Given the description of an element on the screen output the (x, y) to click on. 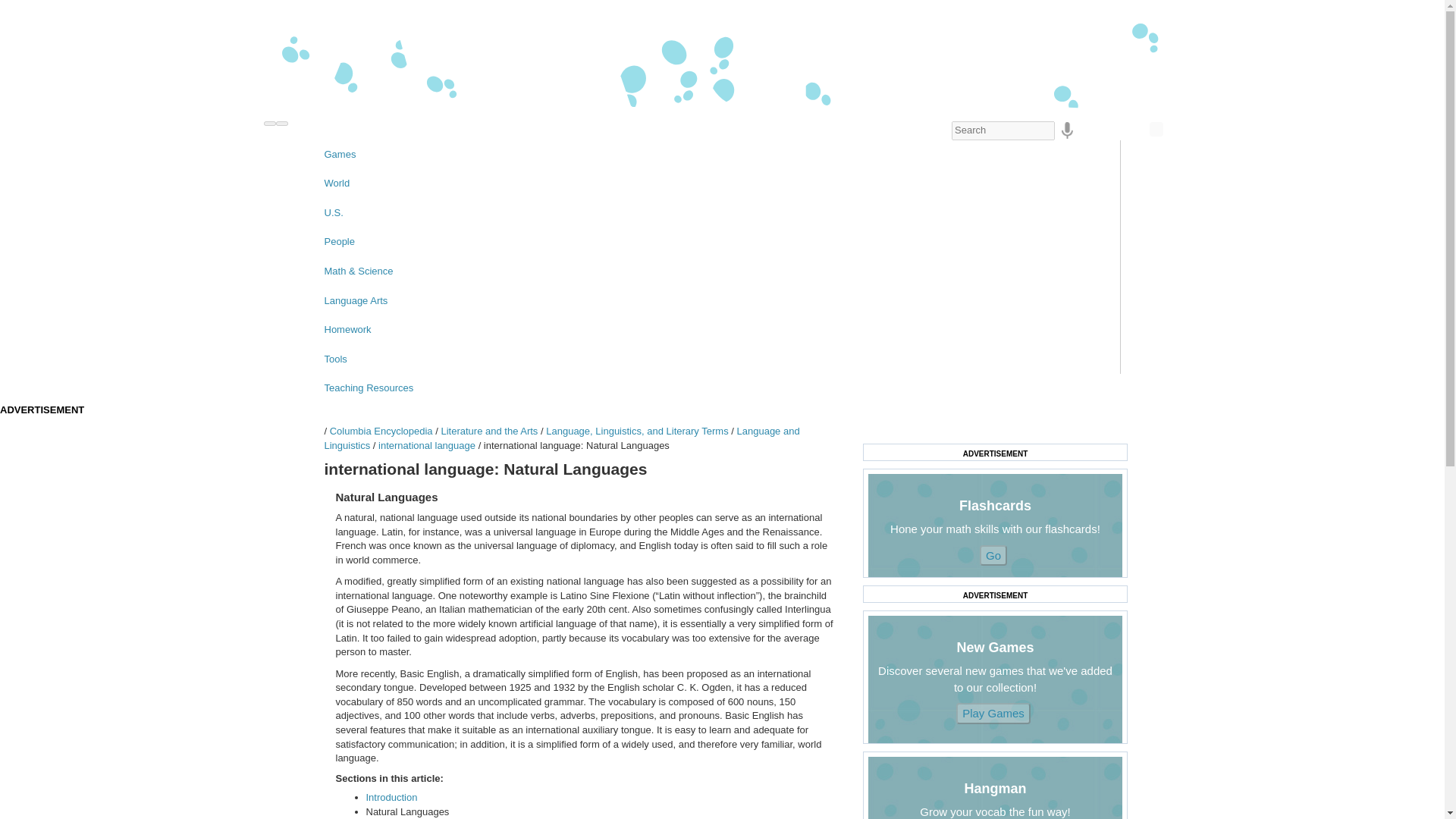
Go (993, 712)
Go (993, 555)
Enter the terms you wish to search for. (1003, 130)
Search (1156, 129)
Search (1156, 129)
Home (721, 56)
World (716, 183)
Visit our teacher resource sister site! (716, 388)
Games (716, 154)
Search (1156, 129)
